Given the description of an element on the screen output the (x, y) to click on. 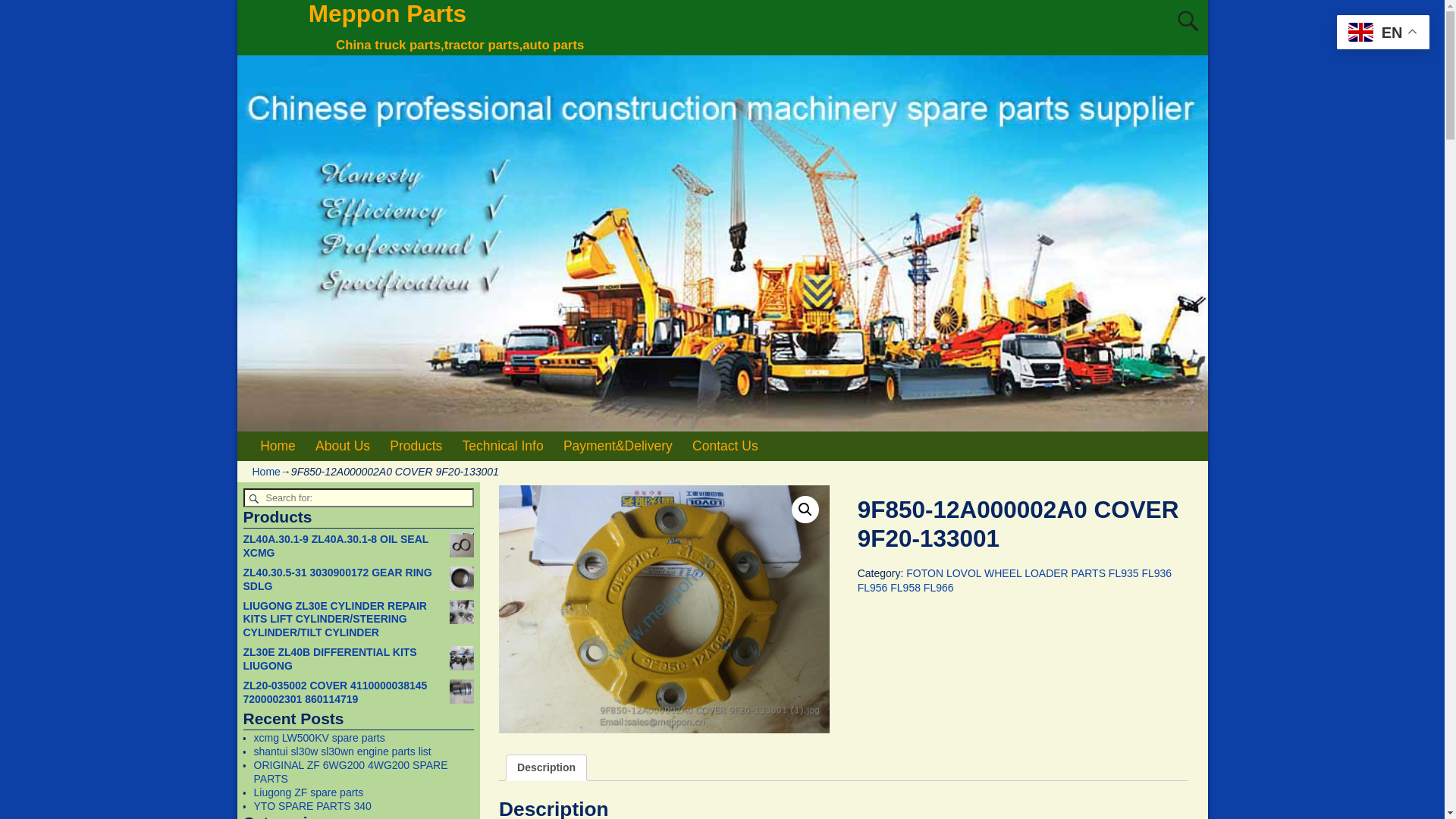
ZL40.30.5-31 3030900172 GEAR RING SDLG Element type: text (357, 579)
FOTON LOVOL WHEEL LOADER PARTS FL935 FL936 FL956 FL958 FL966 Element type: text (1014, 580)
About Us Element type: text (342, 446)
Meppon Parts Element type: text (387, 13)
YTO SPARE PARTS 340 Element type: text (311, 806)
Payment&Delivery Element type: text (617, 446)
Technical Info Element type: text (501, 446)
xcmg LW500KV spare parts Element type: text (318, 737)
ORIGINAL ZF 6WG200 4WG200 SPARE PARTS Element type: text (350, 771)
ZL20-035002 COVER 4110000038145 7200002301 860114719 Element type: text (357, 692)
Home Element type: text (265, 471)
ZL30E ZL40B DIFFERENTIAL KITS LIUGONG Element type: text (357, 659)
shantui sl30w sl30wn engine parts list Element type: text (341, 751)
Home Element type: text (277, 446)
ZL40A.30.1-9 ZL40A.30.1-8 OIL SEAL XCMG Element type: text (357, 546)
Products Element type: text (415, 446)
9F850-12A000002A0 COVER 9F20-133001 (1) Element type: hover (663, 609)
Contact Us Element type: text (725, 446)
Liugong ZF spare parts Element type: text (308, 792)
Description Element type: text (546, 767)
